Given the description of an element on the screen output the (x, y) to click on. 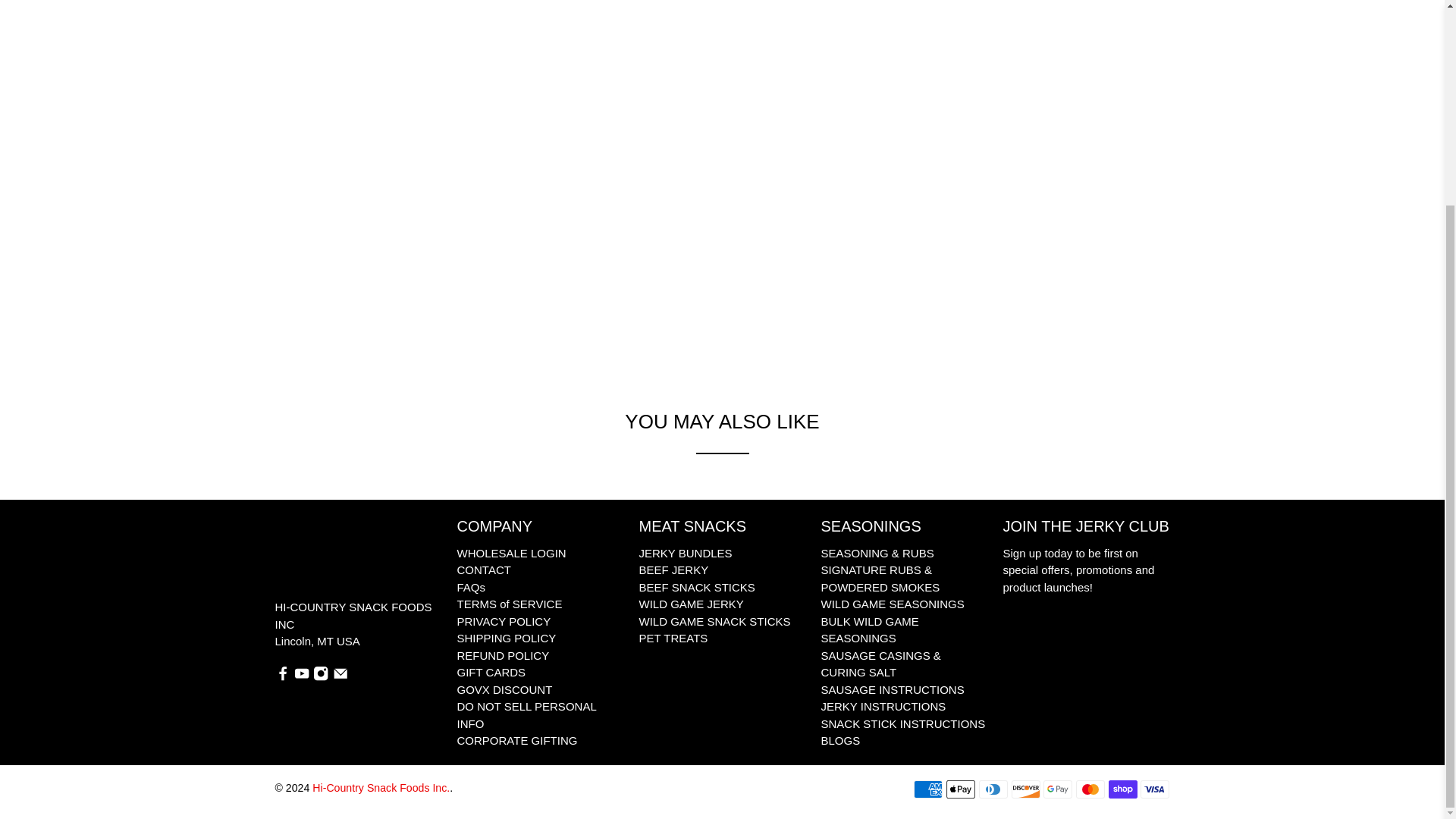
Hi-Country Snack Foods Inc. (324, 556)
Hi-Country Snack Foods Inc. on Facebook (282, 676)
Shop Pay (1122, 789)
Mastercard (1090, 789)
Diners Club (992, 789)
American Express (928, 789)
Hi-Country Snack Foods Inc. on YouTube (301, 676)
Visa (1154, 789)
Discover (1026, 789)
Apple Pay (960, 789)
